Given the description of an element on the screen output the (x, y) to click on. 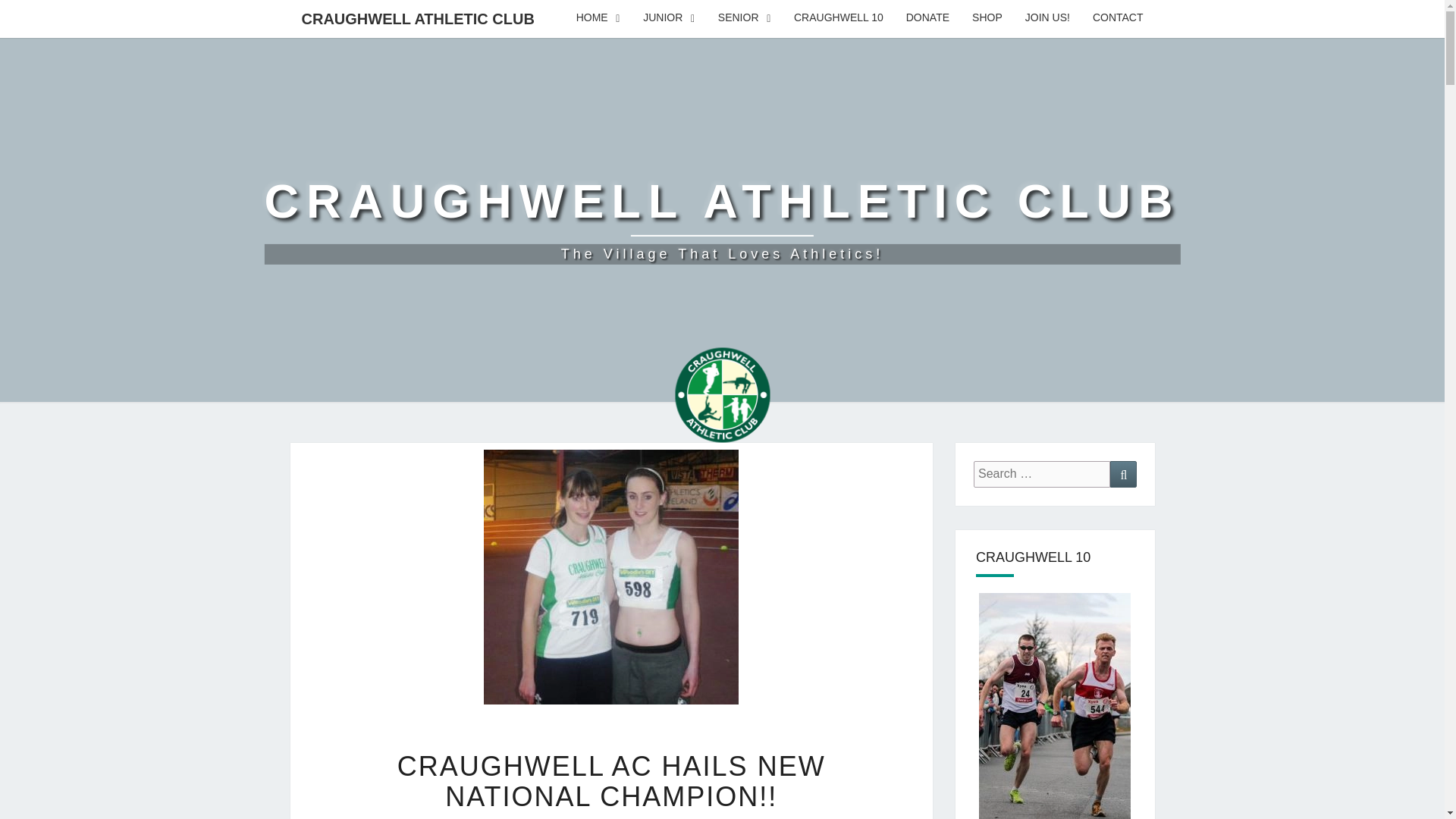
DONATE (927, 18)
Search for: (1041, 474)
CRAUGHWELL 10 (839, 18)
CRAUGHWELL ATHLETIC CLUB (416, 18)
SHOP (986, 18)
JUNIOR (721, 219)
Craughwell Athletic Club (668, 18)
CONTACT (722, 400)
SENIOR (1117, 18)
HOME (744, 18)
Craughwell Athletic Club (597, 18)
JOIN US! (721, 219)
